Given the description of an element on the screen output the (x, y) to click on. 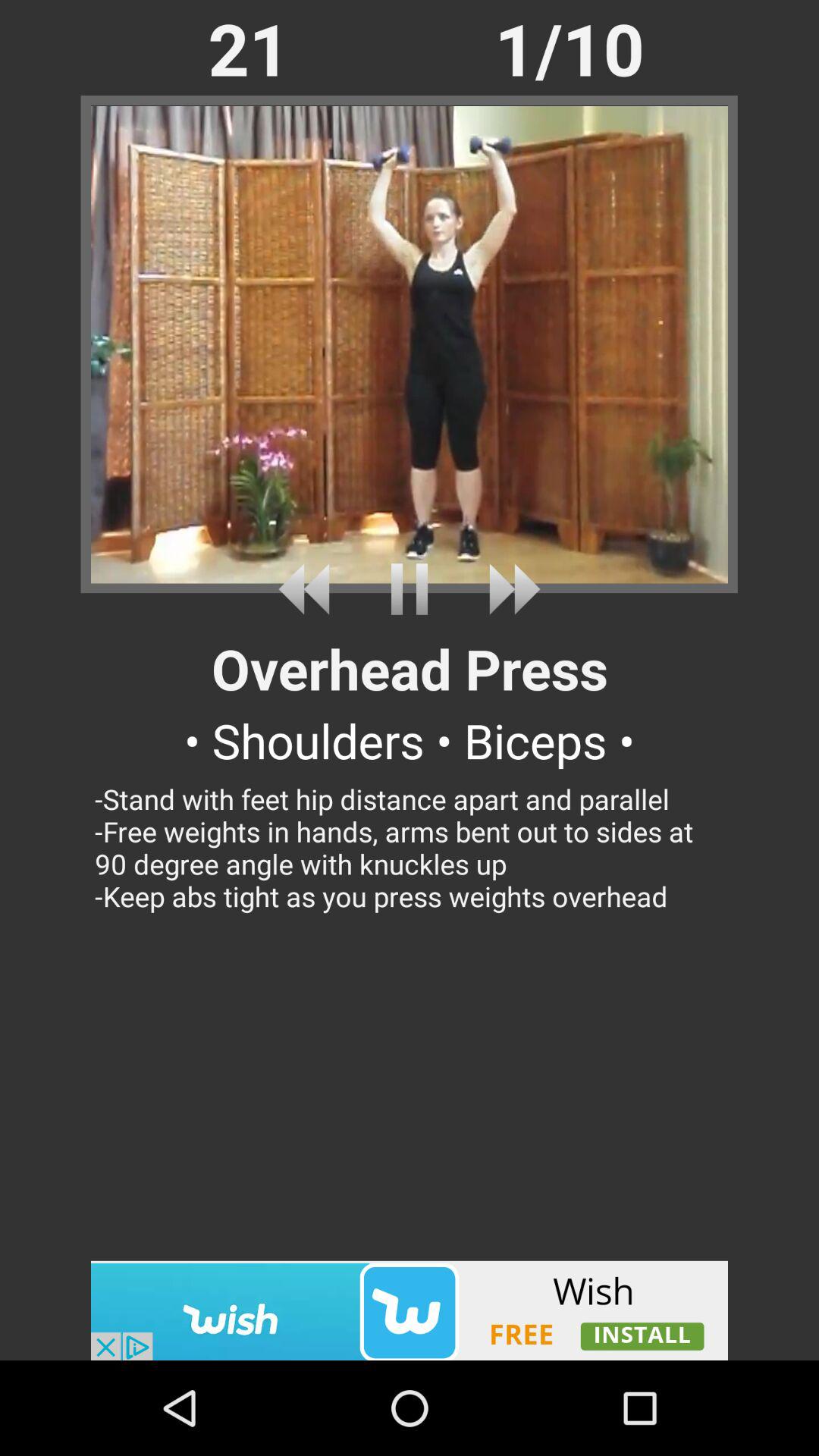
next (508, 589)
